Given the description of an element on the screen output the (x, y) to click on. 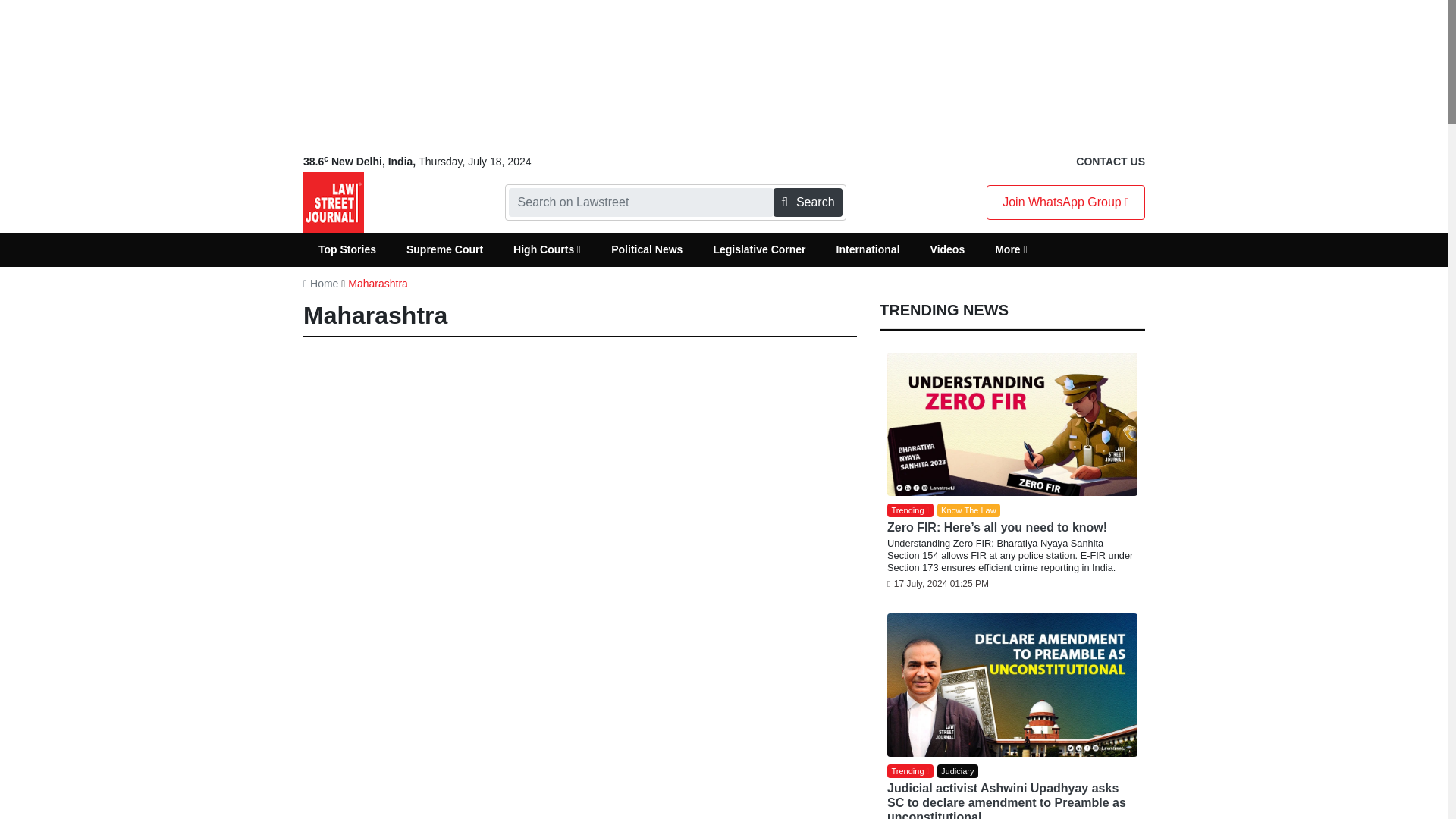
International (868, 249)
Legislative Corner (759, 249)
Search (807, 202)
Political News (646, 249)
Videos (947, 249)
High Courts (546, 249)
Top Stories (346, 249)
LawStreet Journal (333, 201)
Join WhatsApp Group (1065, 202)
Supreme Court (444, 249)
CONTACT US (1109, 161)
More (1010, 249)
